Given the description of an element on the screen output the (x, y) to click on. 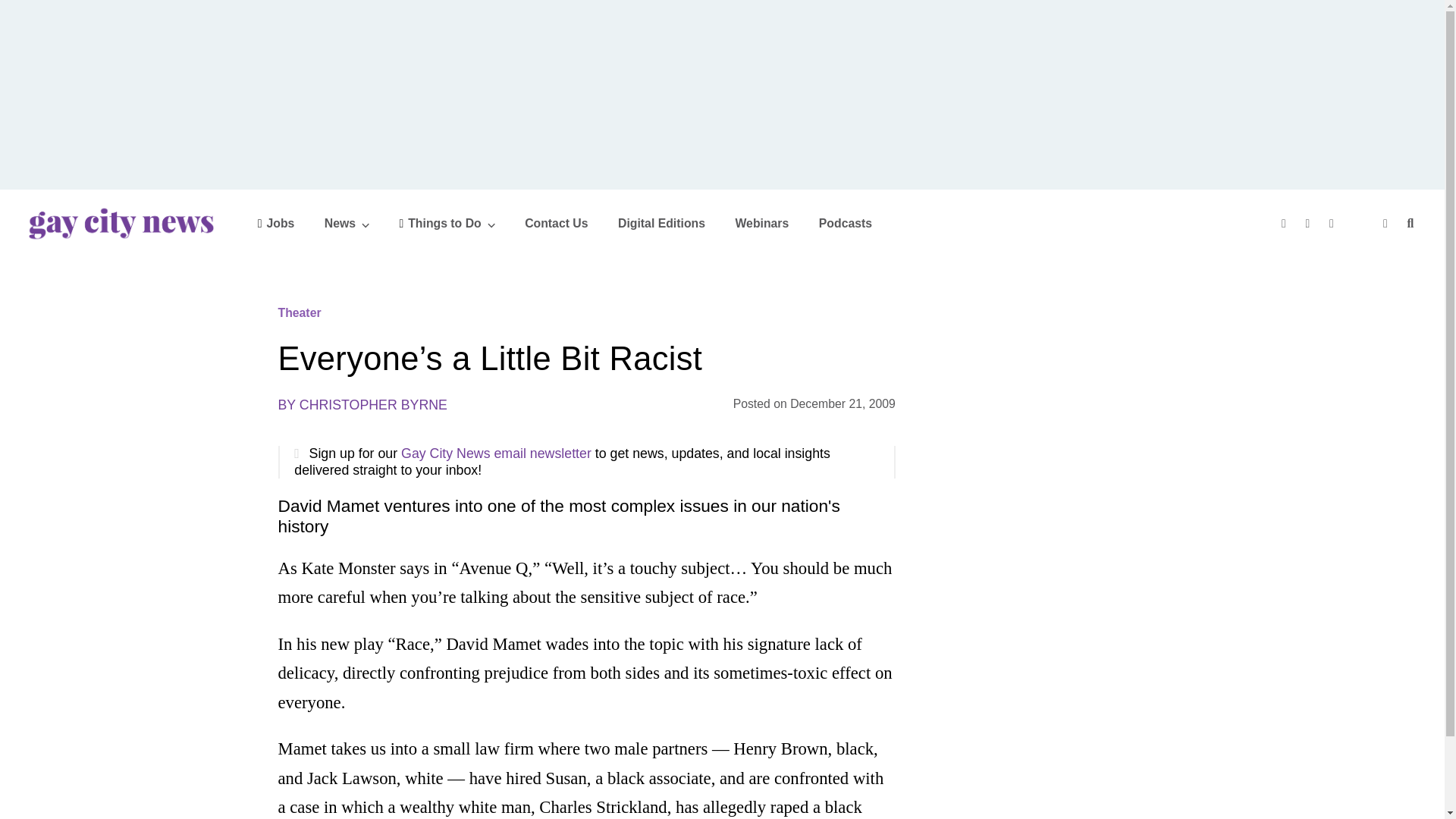
Twitter (1310, 223)
Facebook (1285, 223)
Instagram (1333, 223)
Podcasts (845, 223)
Digital Editions (660, 223)
Things to Do (446, 223)
Jobs (276, 223)
News (346, 223)
Contact Us (556, 223)
Webinars (762, 223)
